Given the description of an element on the screen output the (x, y) to click on. 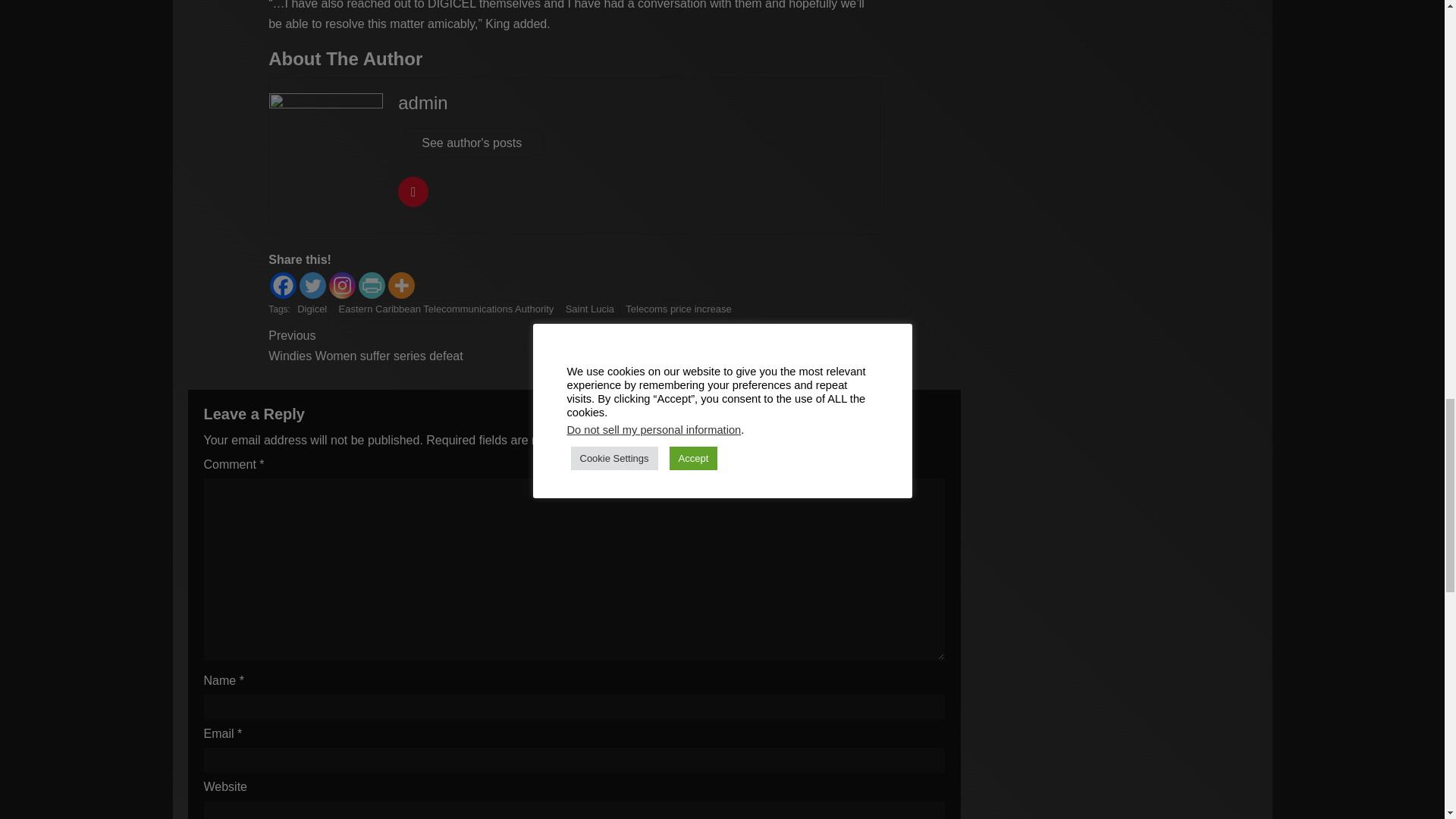
Twitter (312, 284)
PrintFriendly (371, 284)
Facebook (283, 284)
Instagram (342, 284)
More (401, 284)
